Given the description of an element on the screen output the (x, y) to click on. 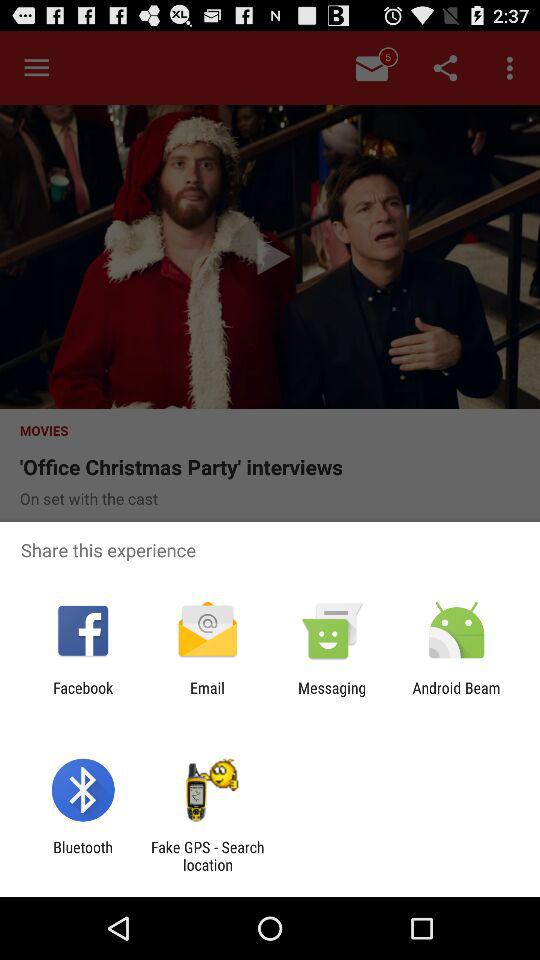
turn off item to the left of the email app (83, 696)
